Given the description of an element on the screen output the (x, y) to click on. 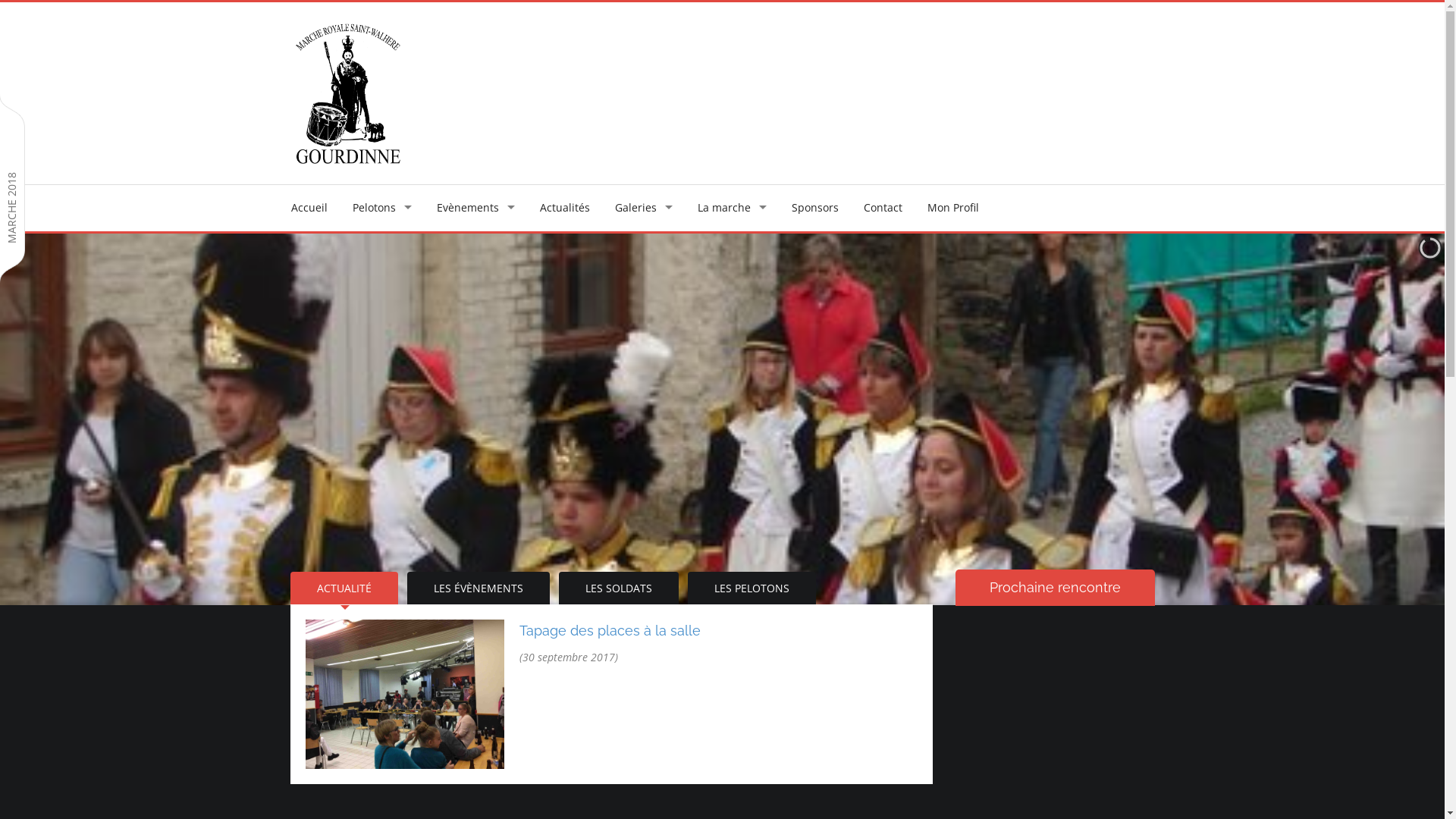
LES PELOTONS Element type: text (751, 588)
Accueil Element type: hover (346, 91)
Accueil Element type: text (309, 207)
Pelotons Element type: text (381, 207)
Mon Profil Element type: text (952, 207)
Sponsors Element type: text (814, 207)
Prochaine rencontre Element type: text (1055, 587)
Contact Element type: text (881, 207)
LES SOLDATS Element type: text (617, 588)
Galeries Element type: text (642, 207)
La marche Element type: text (731, 207)
